Given the description of an element on the screen output the (x, y) to click on. 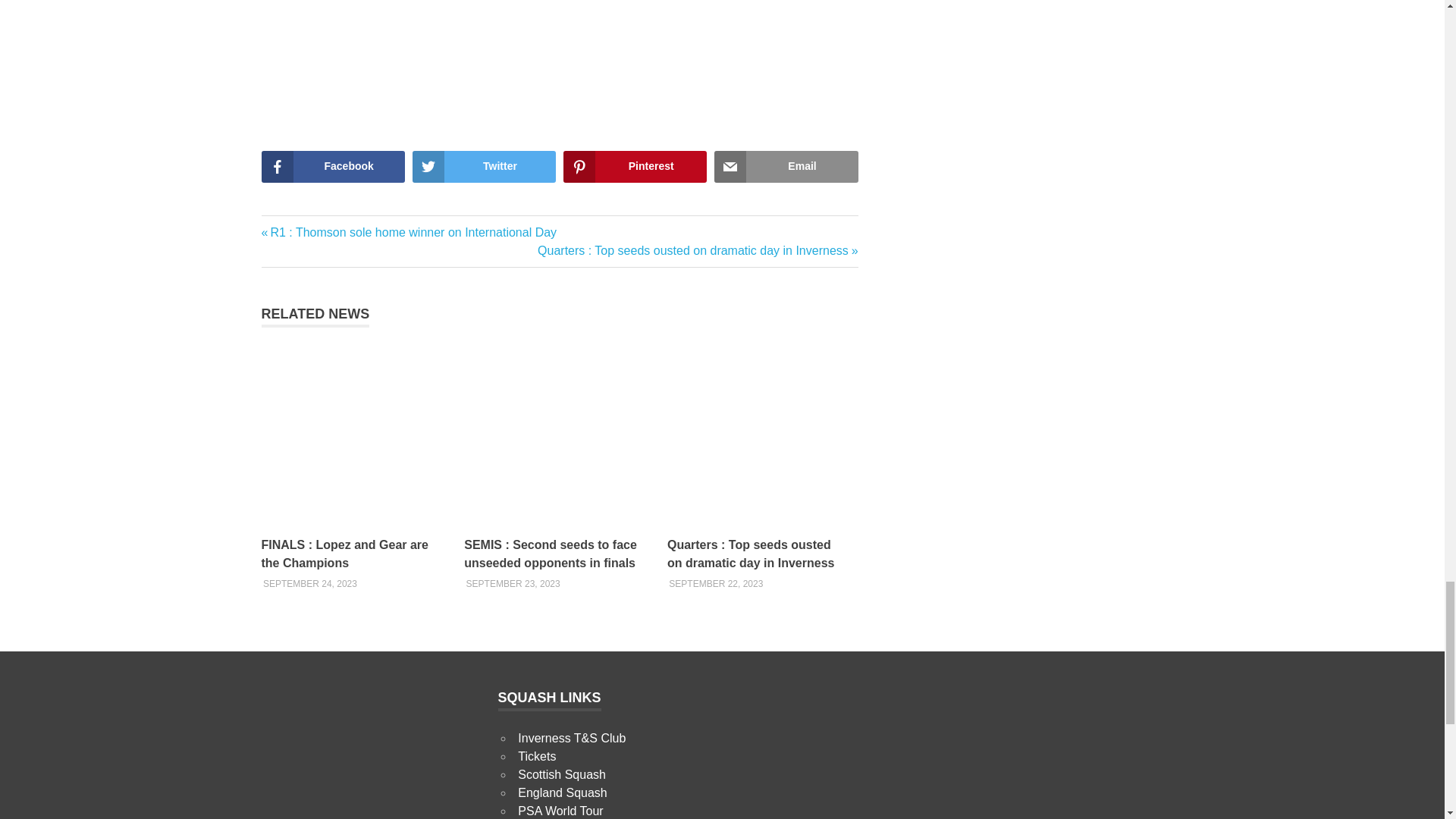
8:14 am (715, 583)
9:37 am (309, 583)
8:42 am (512, 583)
